Given the description of an element on the screen output the (x, y) to click on. 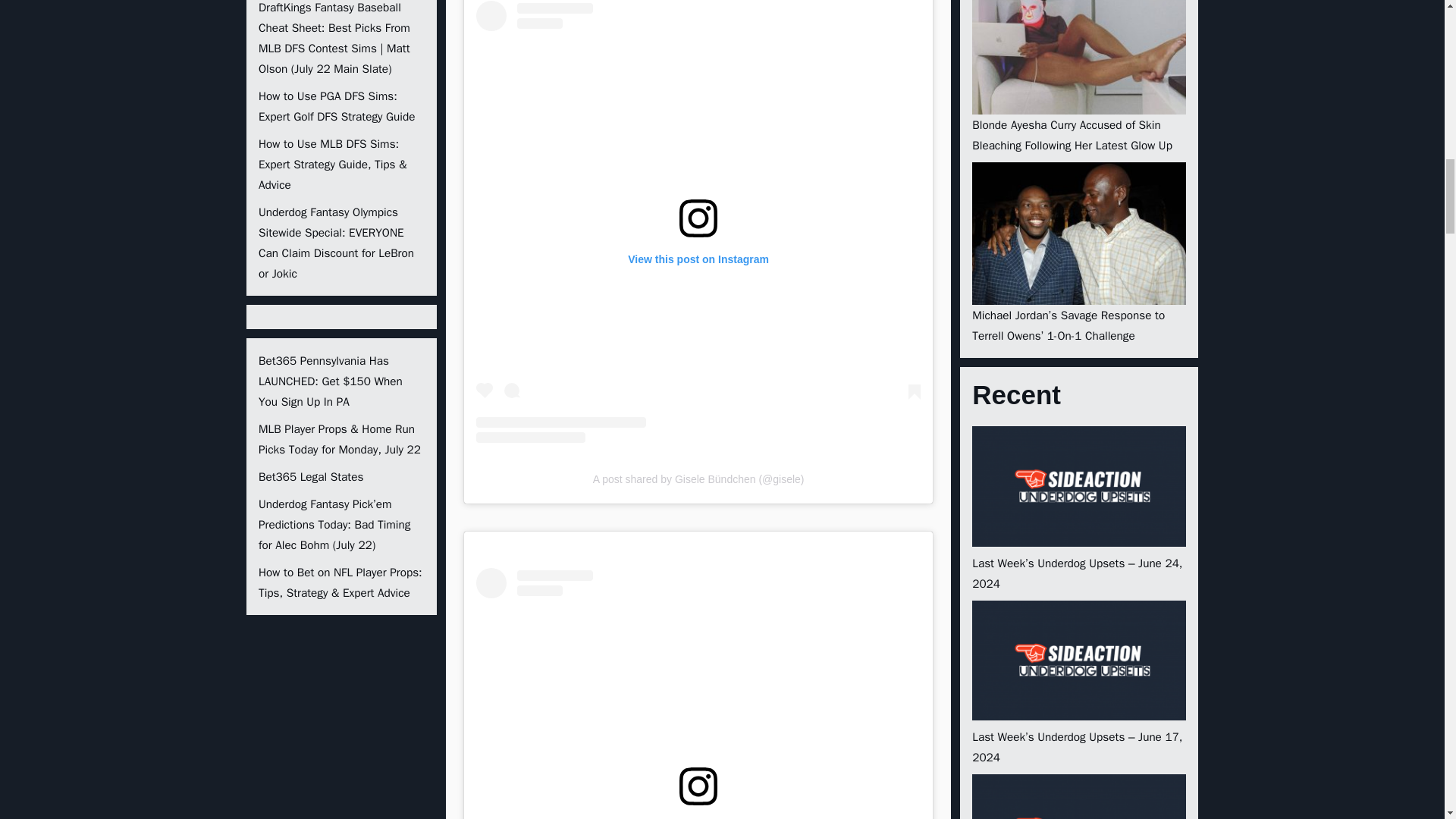
View this post on Instagram (698, 693)
